Given the description of an element on the screen output the (x, y) to click on. 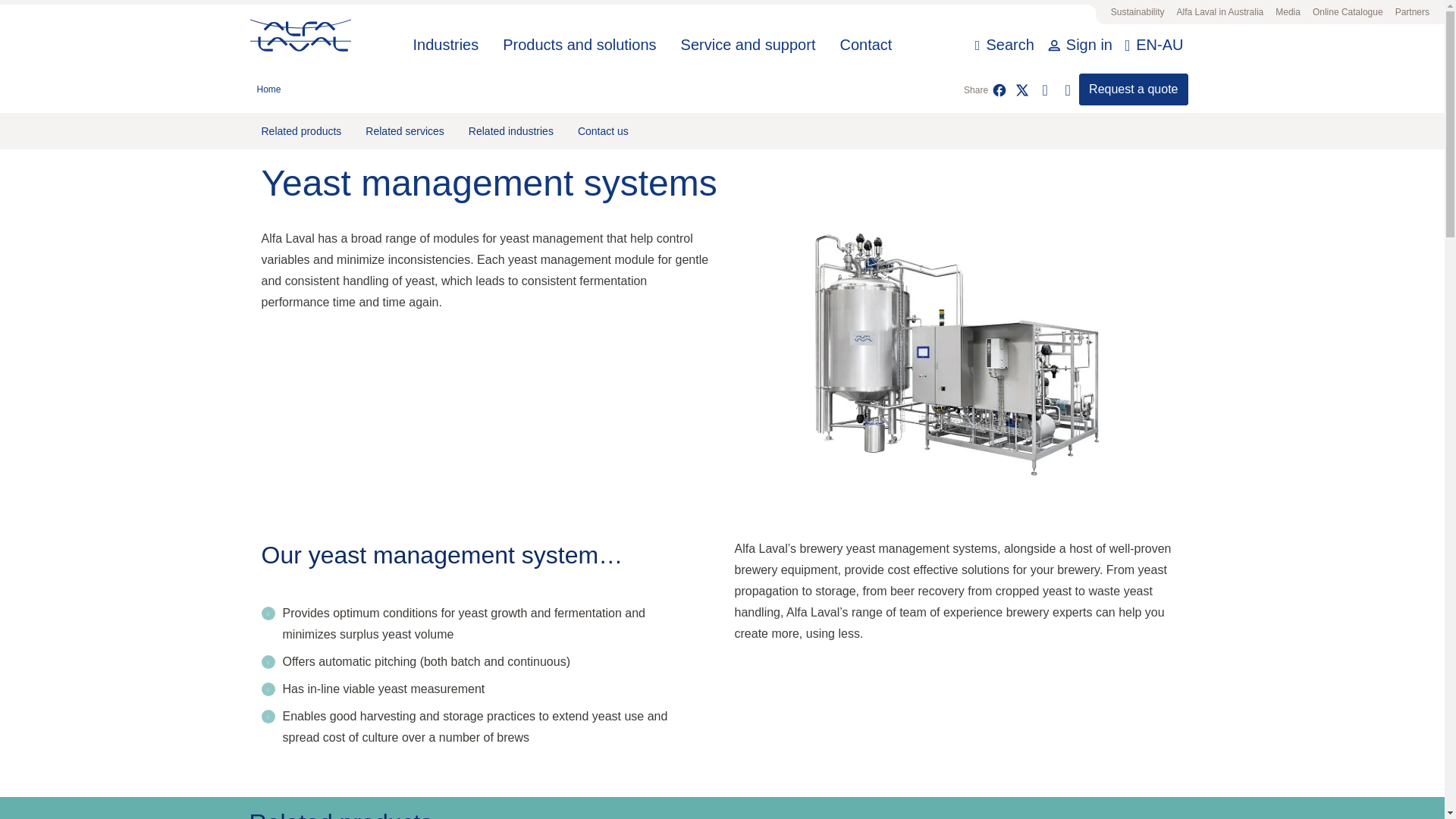
Alfa Laval in Australia (1219, 12)
Alfa Laval in Australia (1219, 12)
Media (1287, 12)
Sign in (1085, 45)
Online Catalogue (1347, 12)
Partners (1412, 12)
Search (1004, 45)
Industries (445, 45)
Online Catalogue (1347, 12)
Service and support (748, 45)
